Given the description of an element on the screen output the (x, y) to click on. 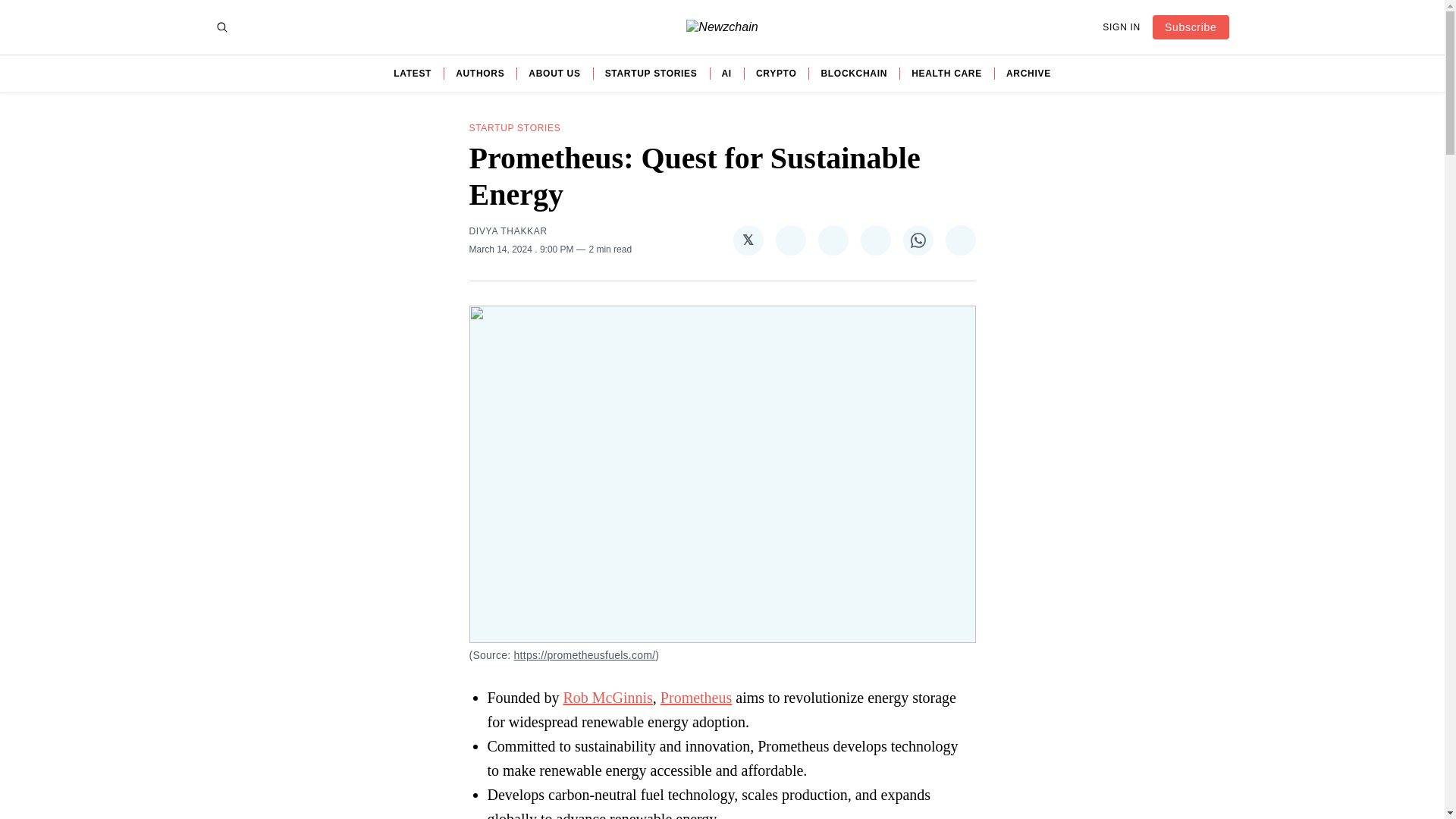
STARTUP STORIES (514, 127)
HEALTH CARE (946, 73)
Subscribe (1190, 27)
LATEST (411, 73)
DIVYA THAKKAR (507, 231)
Share on WhatsApp (917, 240)
Share on Facebook (789, 240)
Share on LinkedIn (874, 240)
AUTHORS (479, 73)
Share via Email (959, 240)
Share on Pinterest (831, 240)
CRYPTO (775, 73)
ARCHIVE (1028, 73)
STARTUP STORIES (651, 73)
BLOCKCHAIN (853, 73)
